Given the description of an element on the screen output the (x, y) to click on. 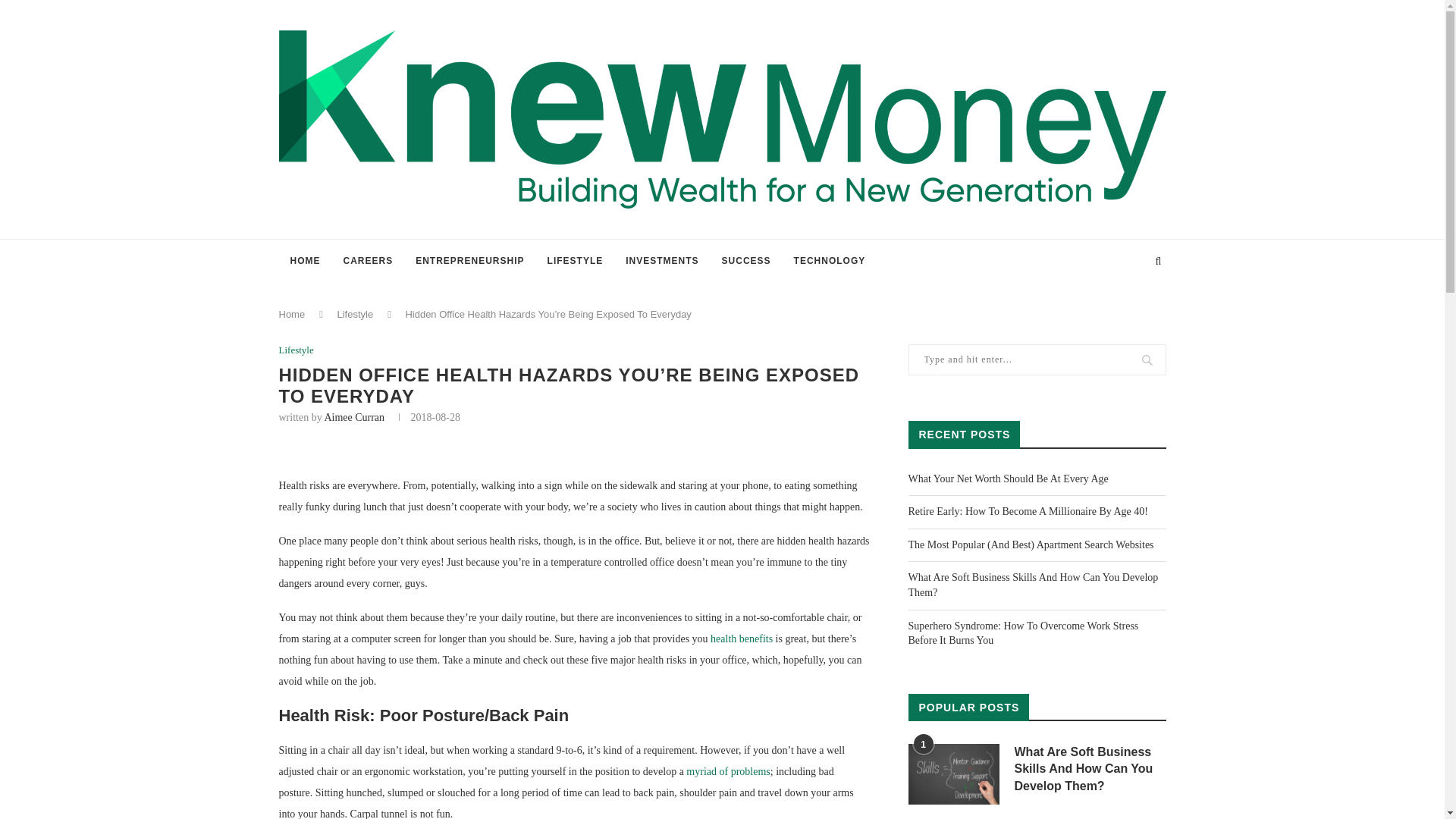
Lifestyle (296, 349)
Lifestyle (354, 314)
Home (292, 314)
LIFESTYLE (574, 261)
ENTREPRENEURSHIP (469, 261)
HOME (305, 261)
INVESTMENTS (662, 261)
health benefits (741, 638)
CAREERS (367, 261)
SUCCESS (746, 261)
